Given the description of an element on the screen output the (x, y) to click on. 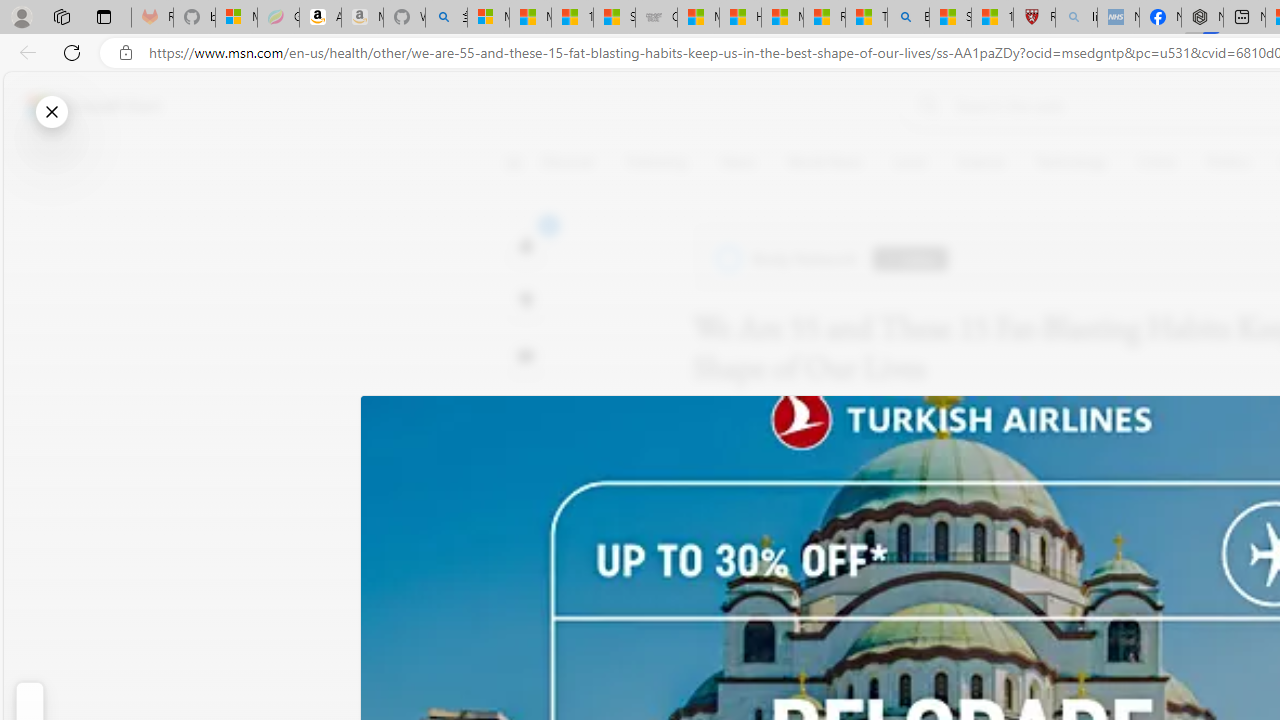
6 (525, 300)
Body Network (788, 259)
Share this story (525, 412)
